Given the description of an element on the screen output the (x, y) to click on. 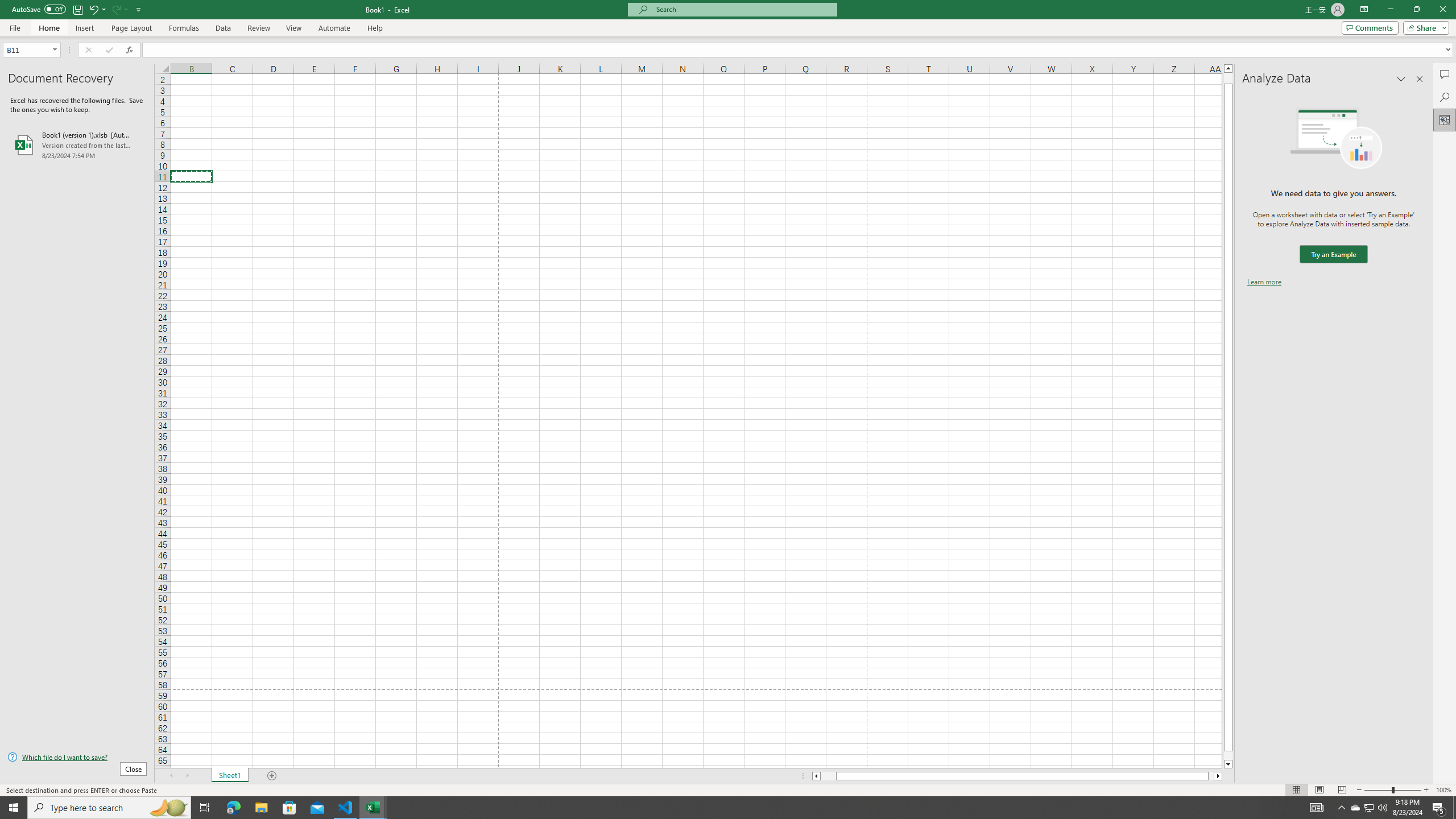
We need data to give you answers. Try an Example (1333, 253)
